Given the description of an element on the screen output the (x, y) to click on. 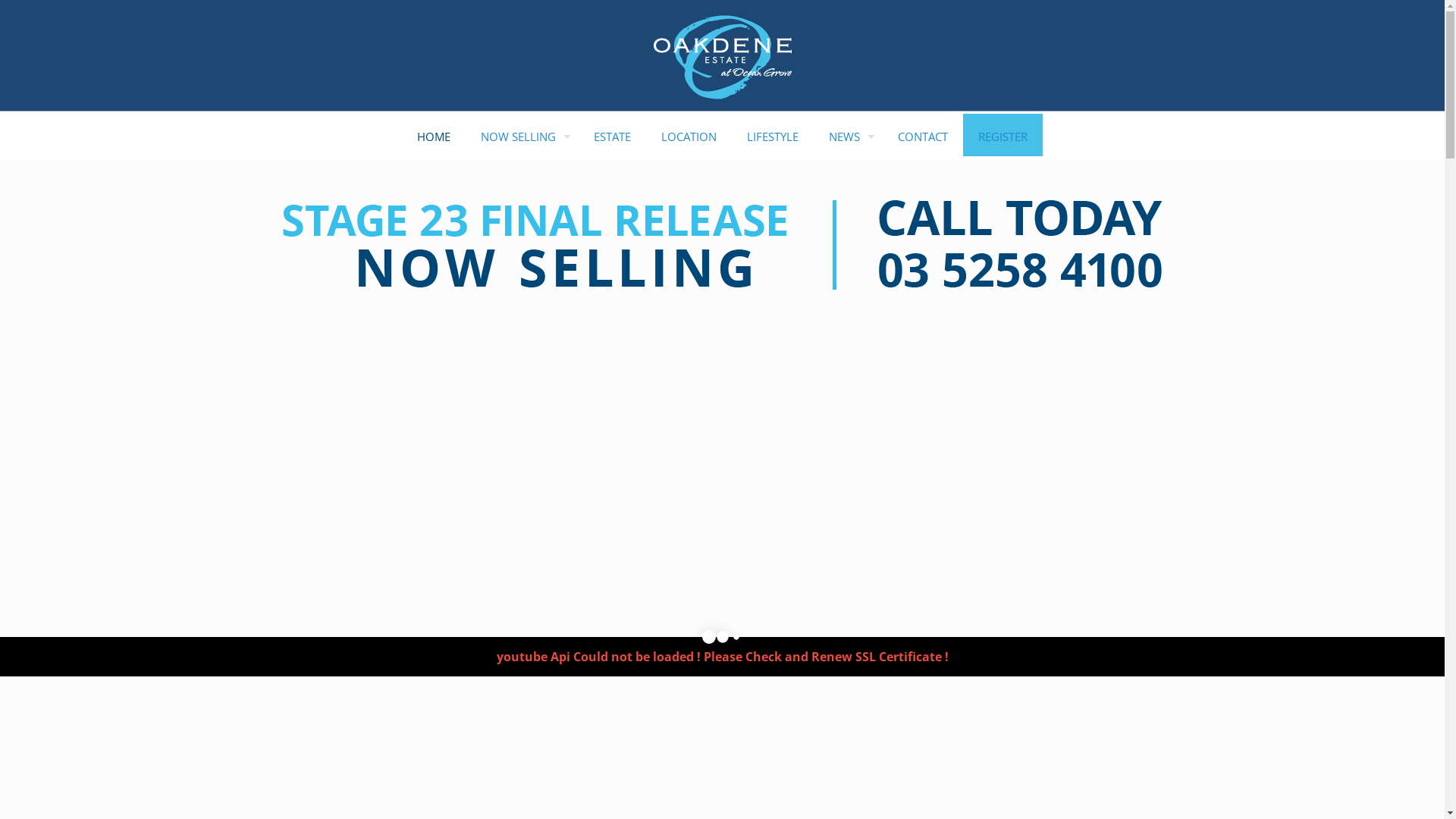
CONTACT Element type: text (922, 136)
LIFESTYLE Element type: text (772, 136)
Oakdene Estate Element type: hover (722, 56)
NOW SELLING Element type: text (521, 136)
ESTATE Element type: text (612, 136)
NEWS Element type: text (847, 136)
New-Land-Release-Oakdene-Estate-Stage23-Final Element type: hover (722, 246)
LOCATION Element type: text (688, 136)
HOME Element type: text (433, 136)
REGISTER Element type: text (1002, 136)
